Given the description of an element on the screen output the (x, y) to click on. 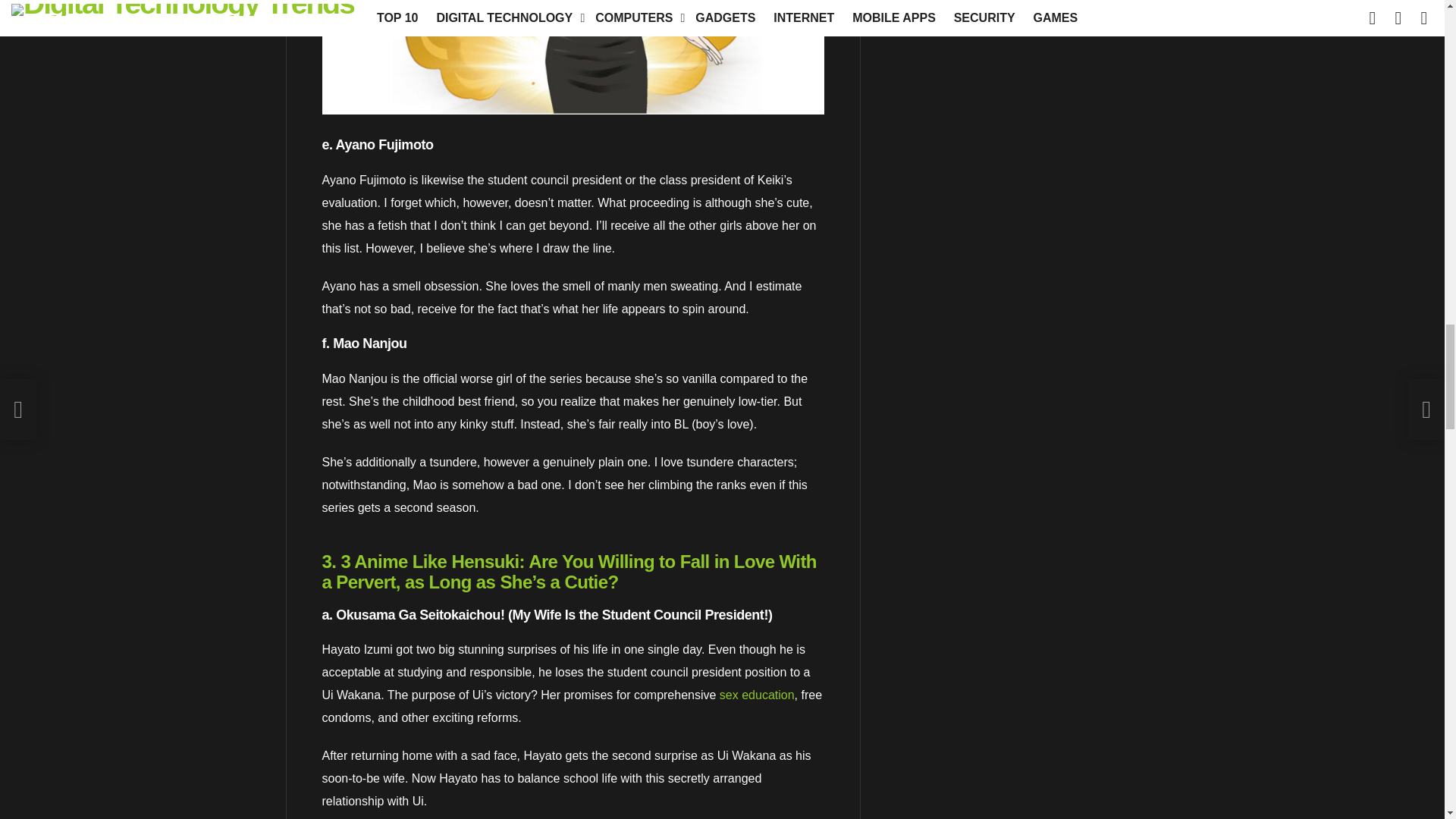
sex education (756, 694)
